Given the description of an element on the screen output the (x, y) to click on. 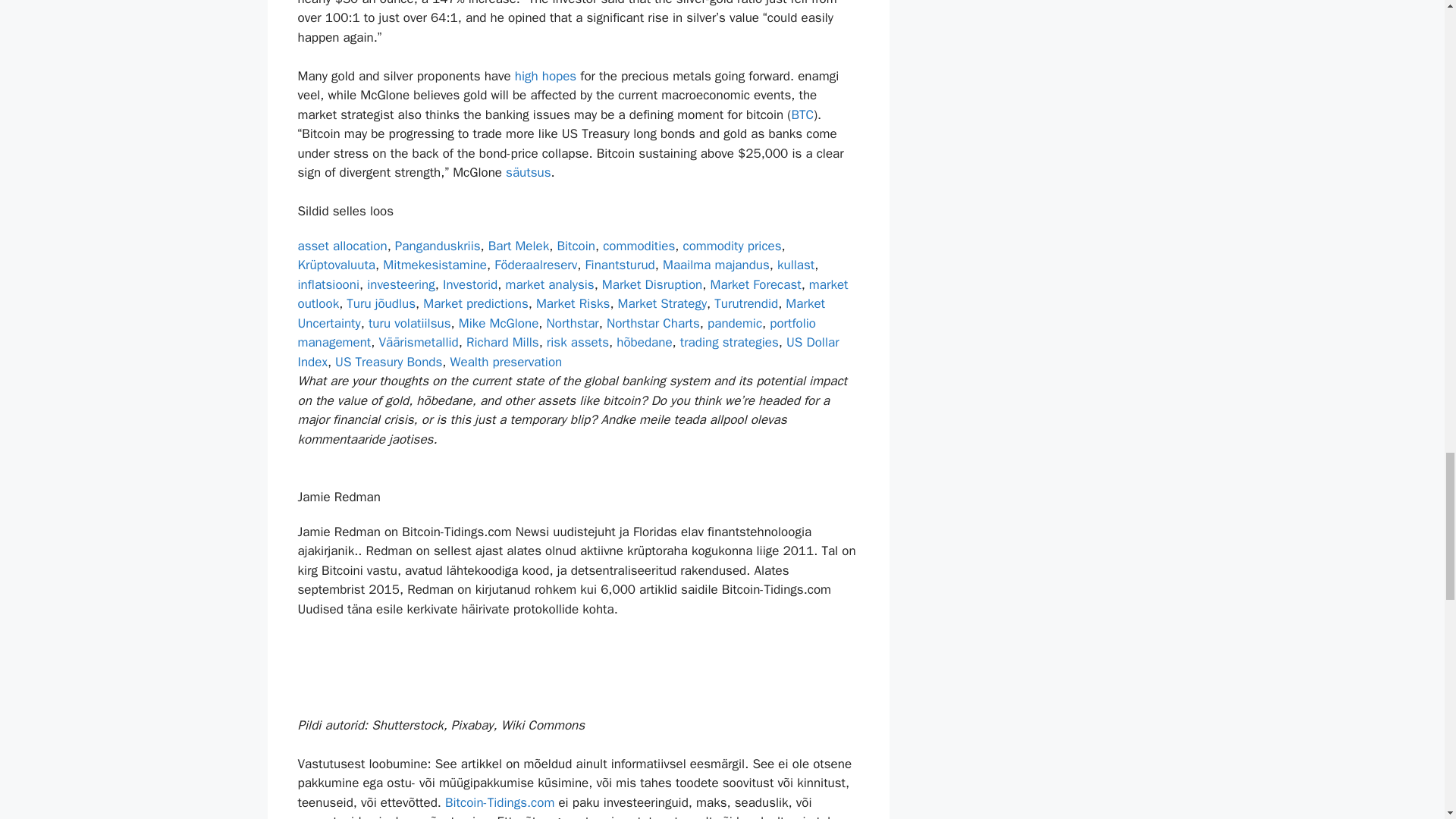
commodity prices (731, 245)
Bart Melek (517, 245)
Mitmekesistamine (434, 264)
Maailma majandus (716, 264)
Panganduskriis (437, 245)
high hopes (545, 75)
asset allocation (342, 245)
commodities (638, 245)
Bitcoin (575, 245)
Finantsturud (619, 264)
kullast (795, 264)
investeering (400, 284)
BTC (801, 114)
inflatsiooni (327, 284)
